Given the description of an element on the screen output the (x, y) to click on. 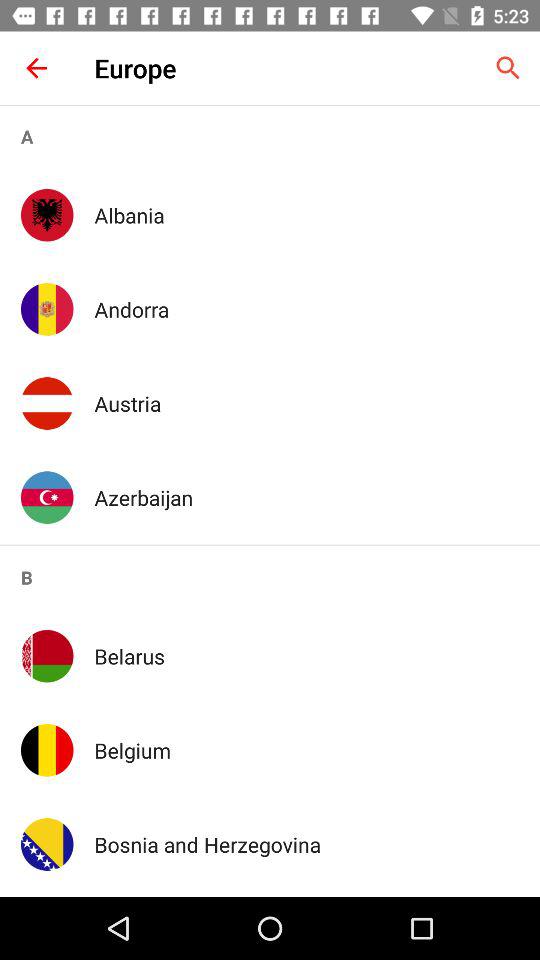
turn off azerbaijan app (306, 497)
